Given the description of an element on the screen output the (x, y) to click on. 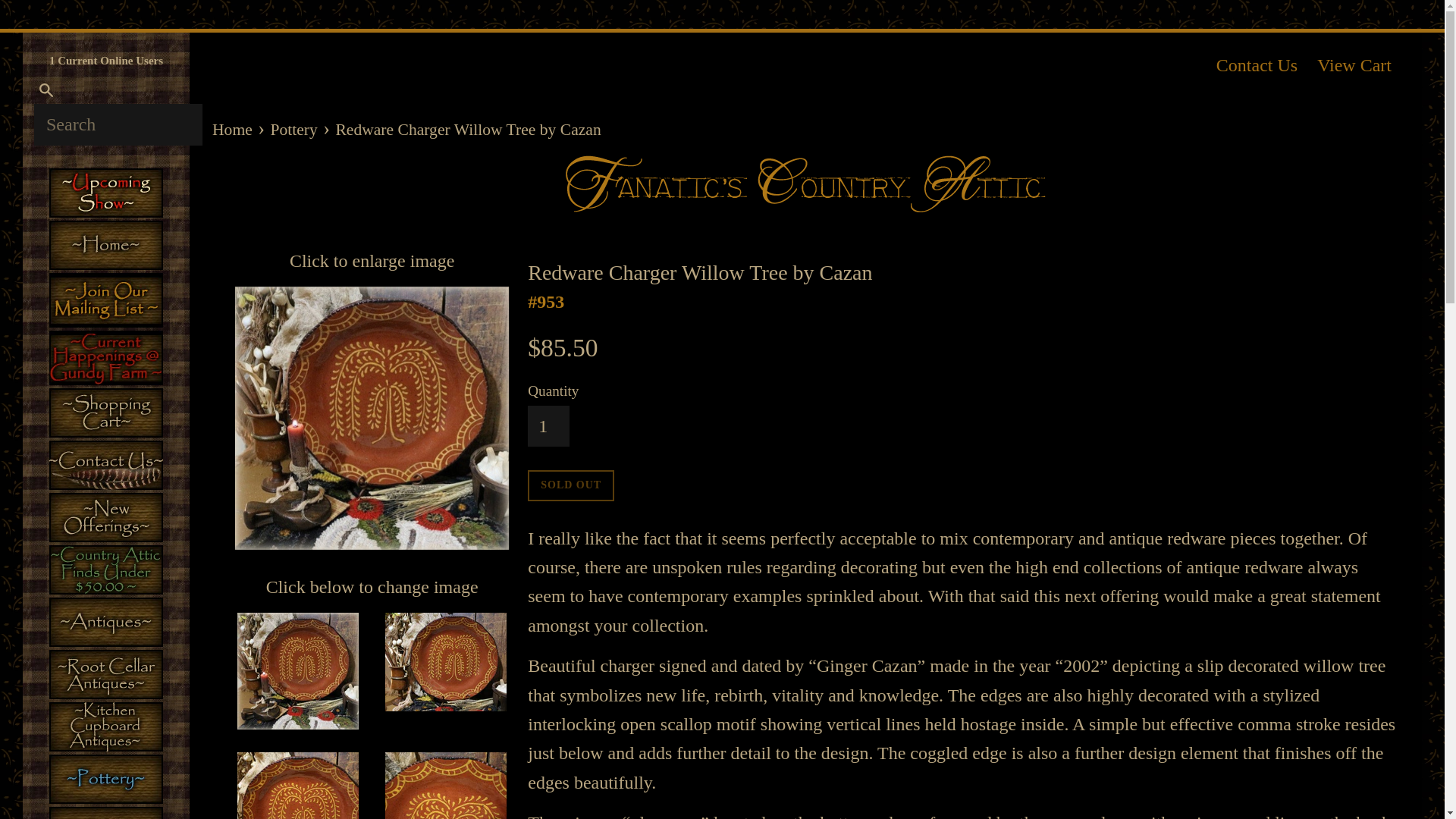
1 (548, 425)
Real-time web tracking from supercounters (106, 60)
1 Current Online Users (106, 60)
Back to the frontpage (234, 129)
View Cart (1354, 65)
Contact Us (1256, 65)
